Given the description of an element on the screen output the (x, y) to click on. 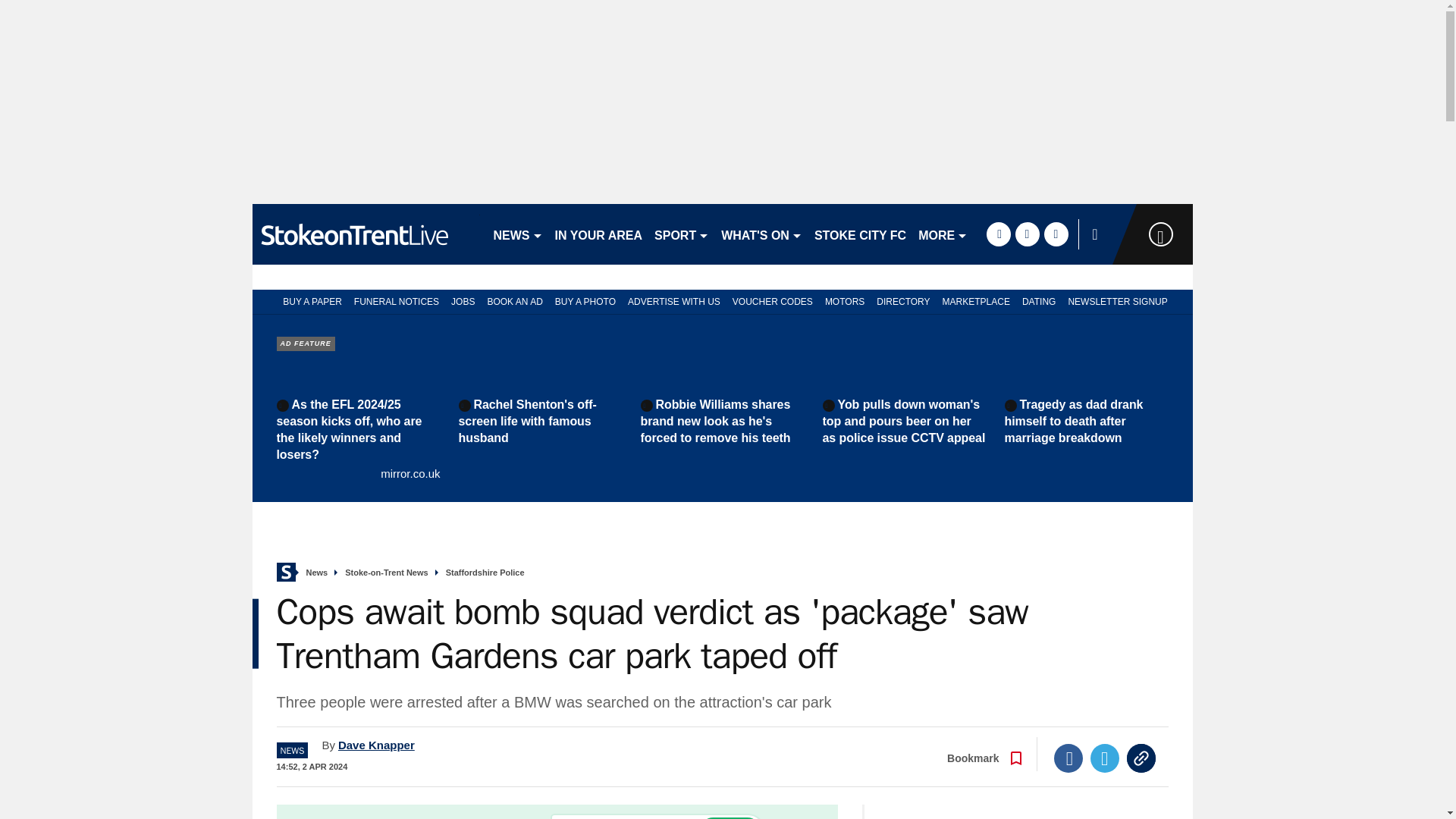
STOKE CITY FC (860, 233)
MORE (943, 233)
twitter (1026, 233)
WHAT'S ON (761, 233)
facebook (997, 233)
instagram (1055, 233)
NEWS (517, 233)
SPORT (680, 233)
Go (730, 818)
IN YOUR AREA (598, 233)
